Given the description of an element on the screen output the (x, y) to click on. 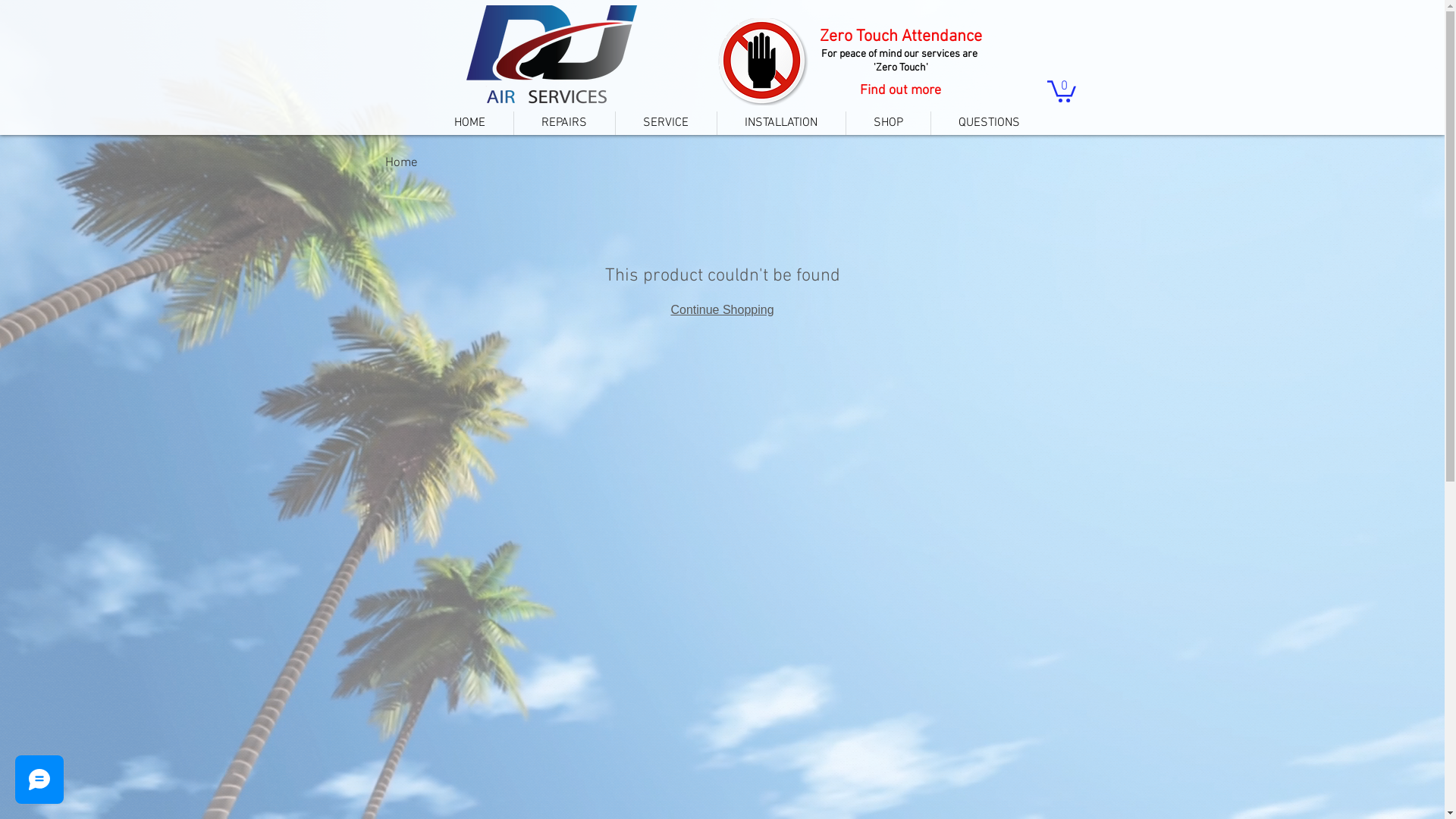
SERVICE Element type: text (665, 122)
Find out more Element type: text (899, 90)
HOME Element type: text (469, 122)
0 Element type: text (1060, 90)
REPAIRS Element type: text (564, 122)
Continue Shopping Element type: text (721, 309)
INSTALLATION Element type: text (781, 122)
QUESTIONS Element type: text (989, 122)
Home Element type: text (401, 162)
